Given the description of an element on the screen output the (x, y) to click on. 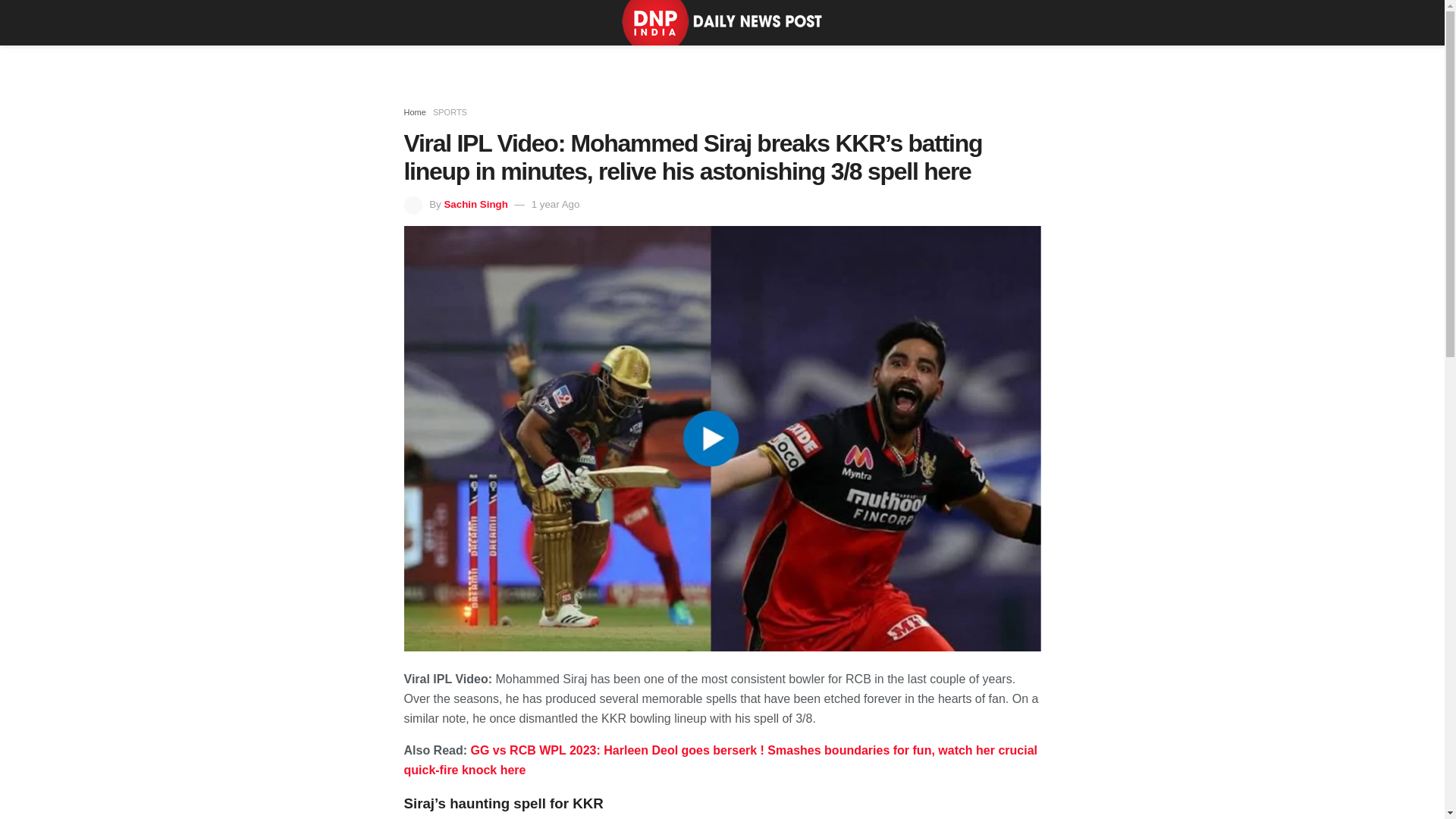
Home (414, 112)
3rd party ad content (721, 64)
Sachin Singh (475, 204)
SPORTS (449, 112)
